Given the description of an element on the screen output the (x, y) to click on. 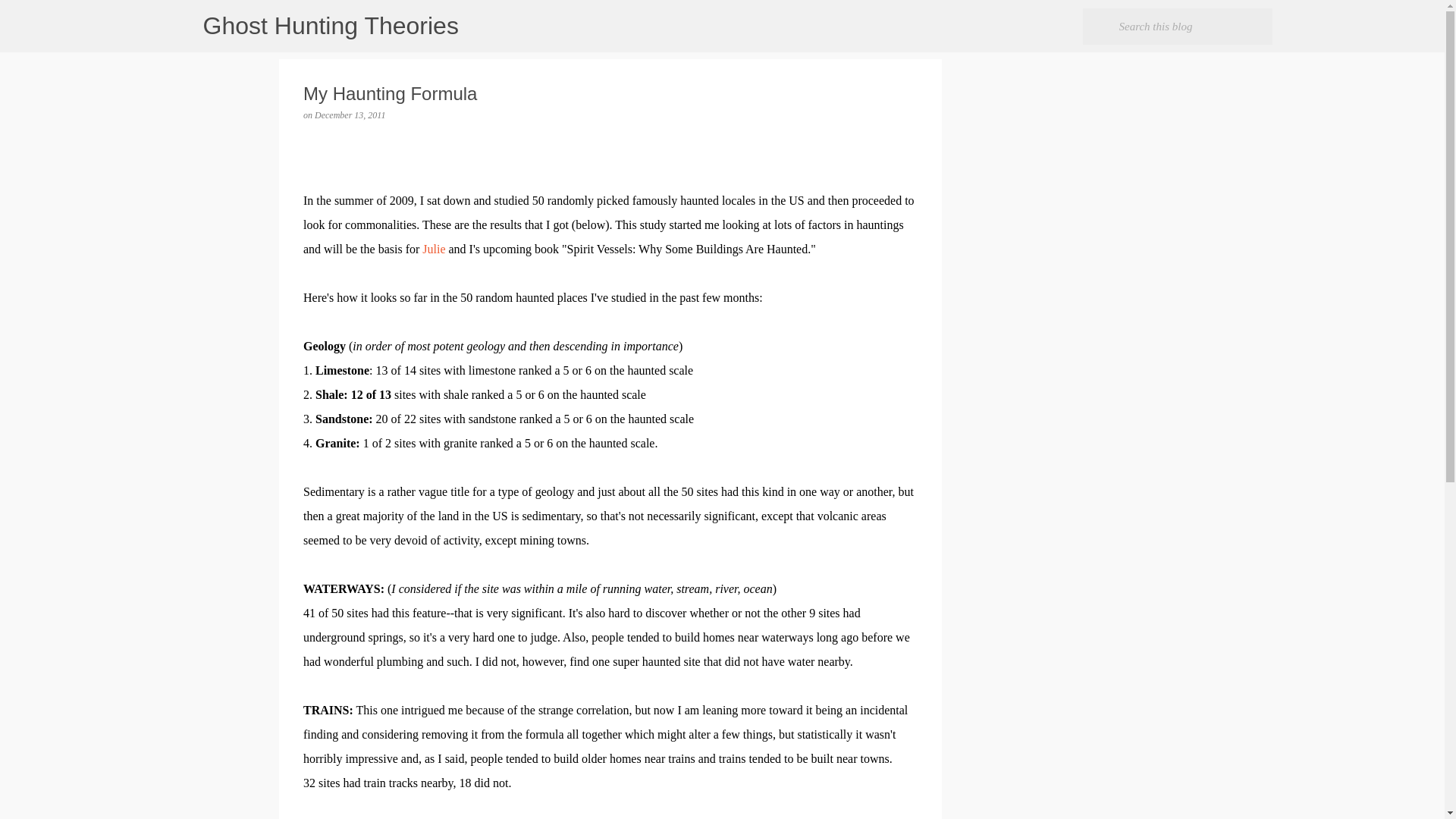
Ghost Hunting Theories (330, 25)
permanent link (349, 114)
Julie (433, 248)
December 13, 2011 (349, 114)
